Given the description of an element on the screen output the (x, y) to click on. 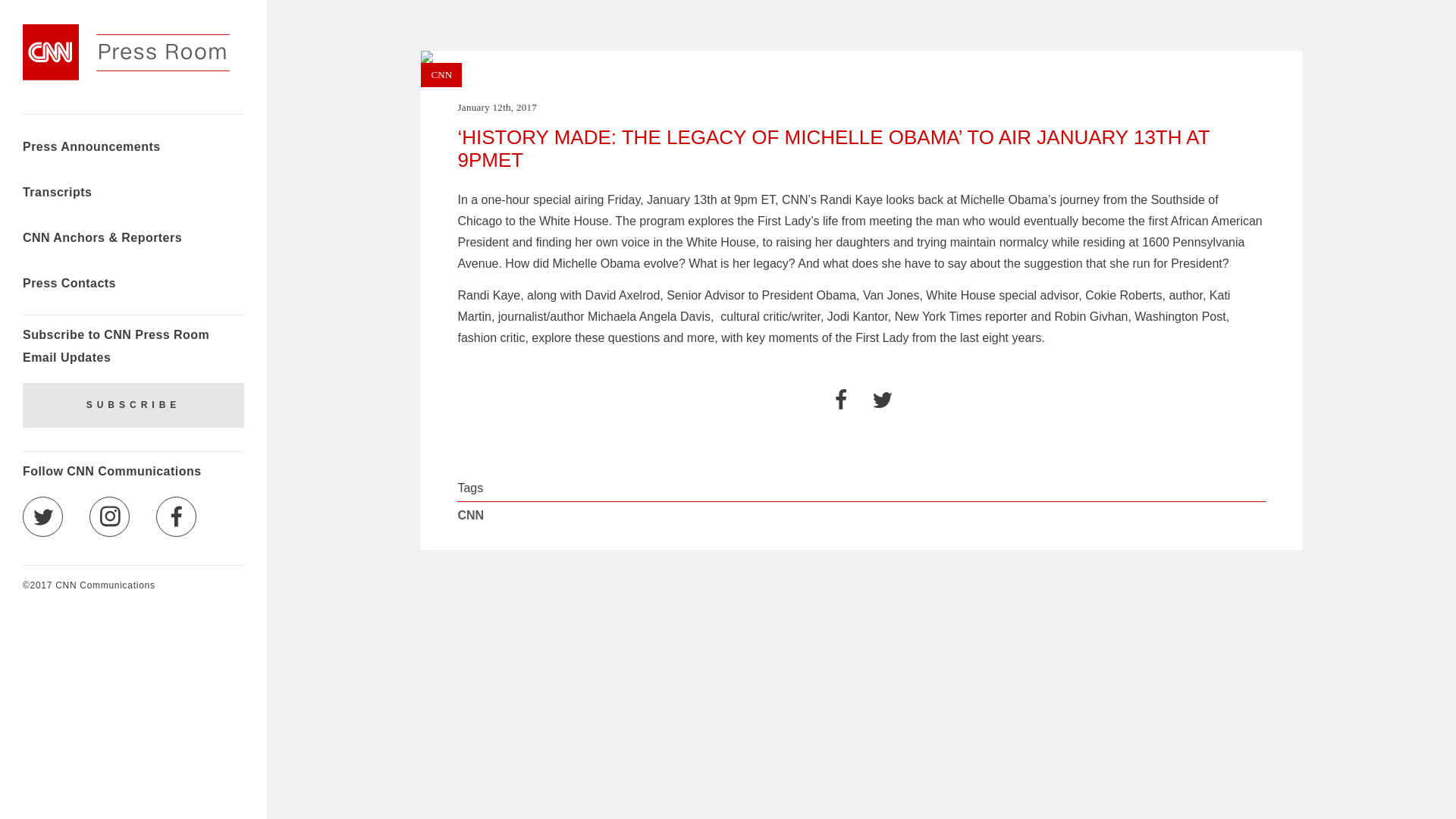
Press Contacts (69, 285)
Press Announcements (91, 149)
Transcripts (57, 194)
